Given the description of an element on the screen output the (x, y) to click on. 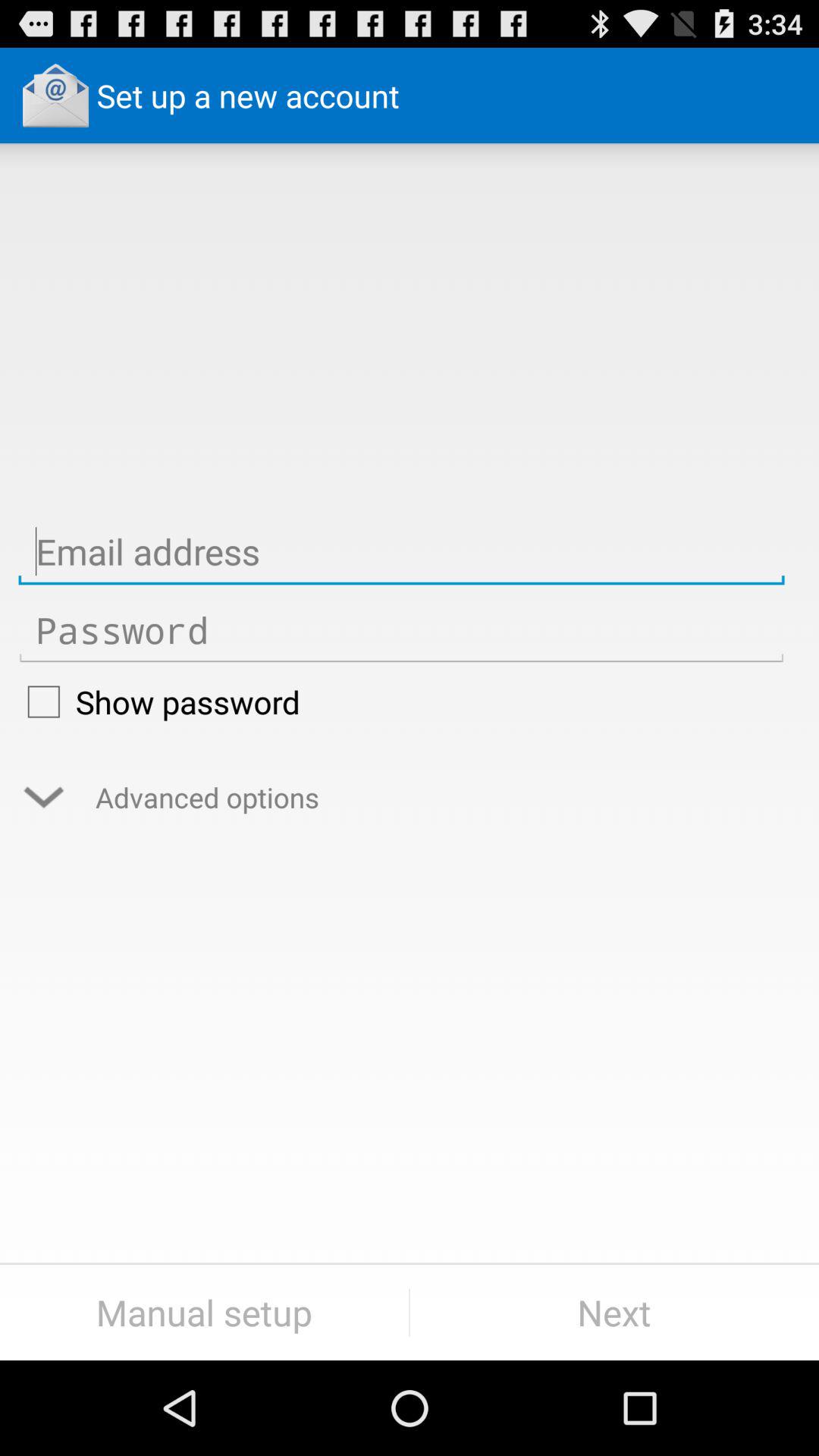
open the icon next to manual setup button (614, 1312)
